Given the description of an element on the screen output the (x, y) to click on. 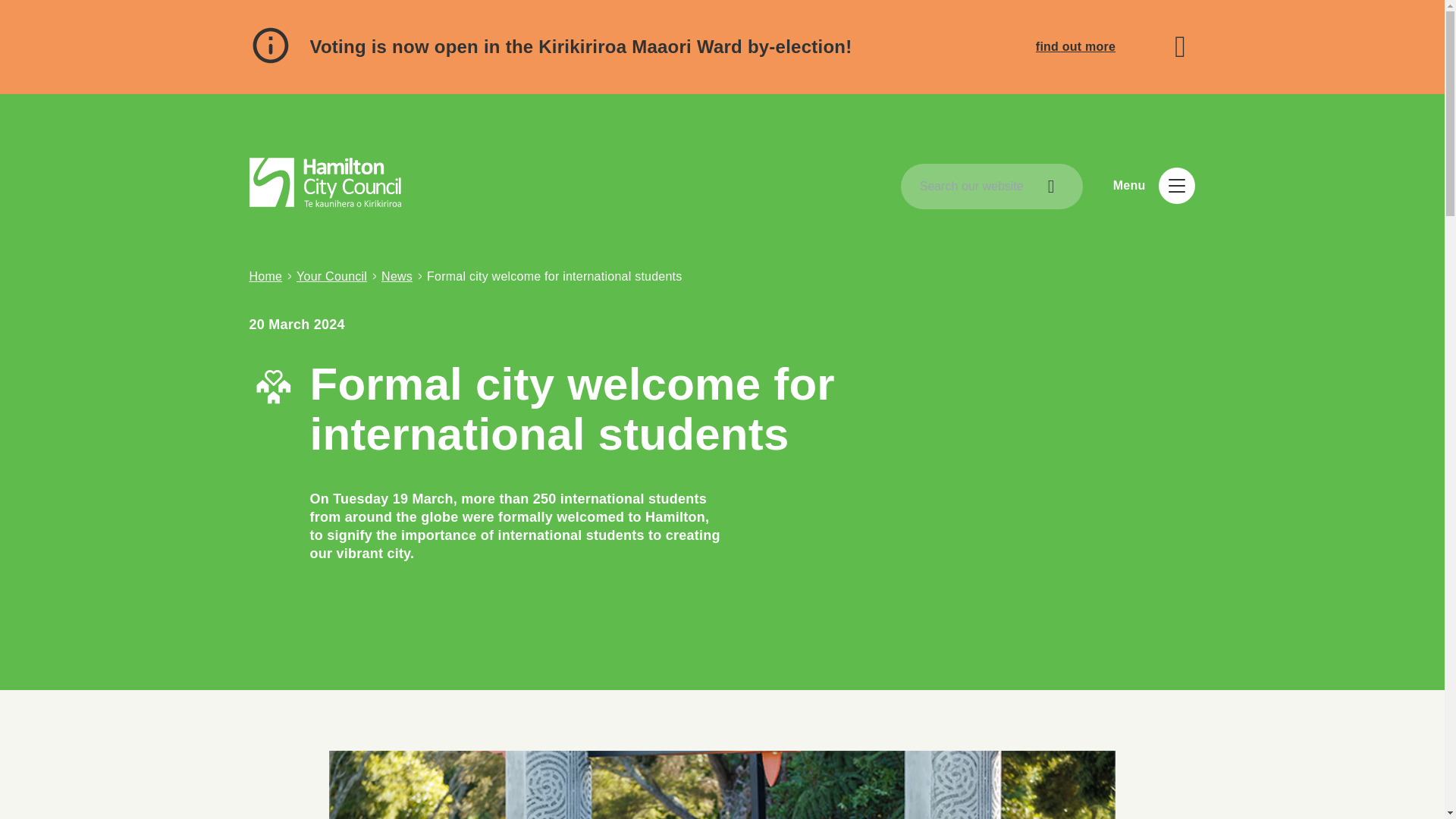
Close (1179, 46)
find out more (1075, 46)
